Given the description of an element on the screen output the (x, y) to click on. 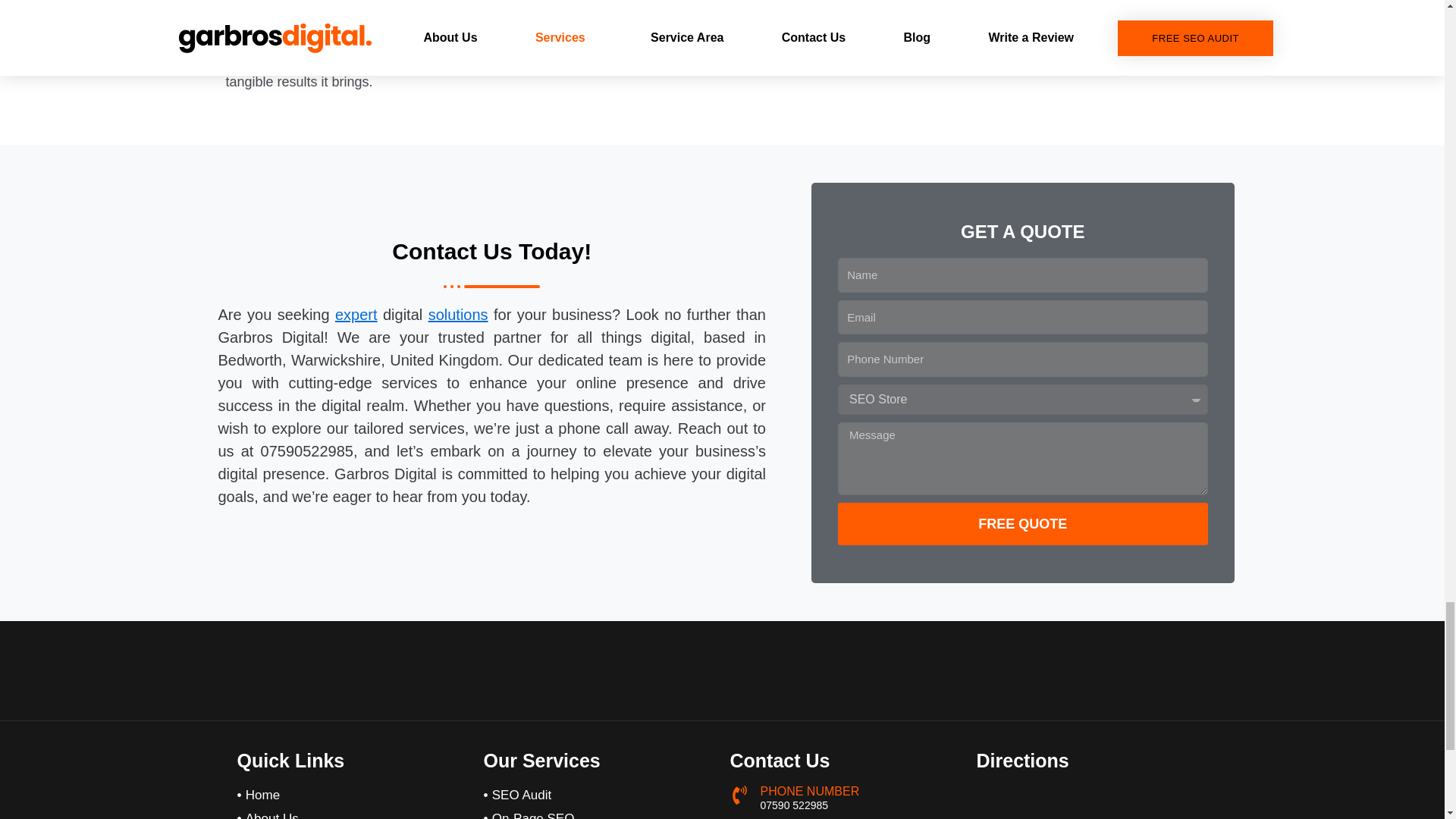
garbros digital logo white (598, 669)
65 Gibson Crescent Bedworth (1092, 796)
